Given the description of an element on the screen output the (x, y) to click on. 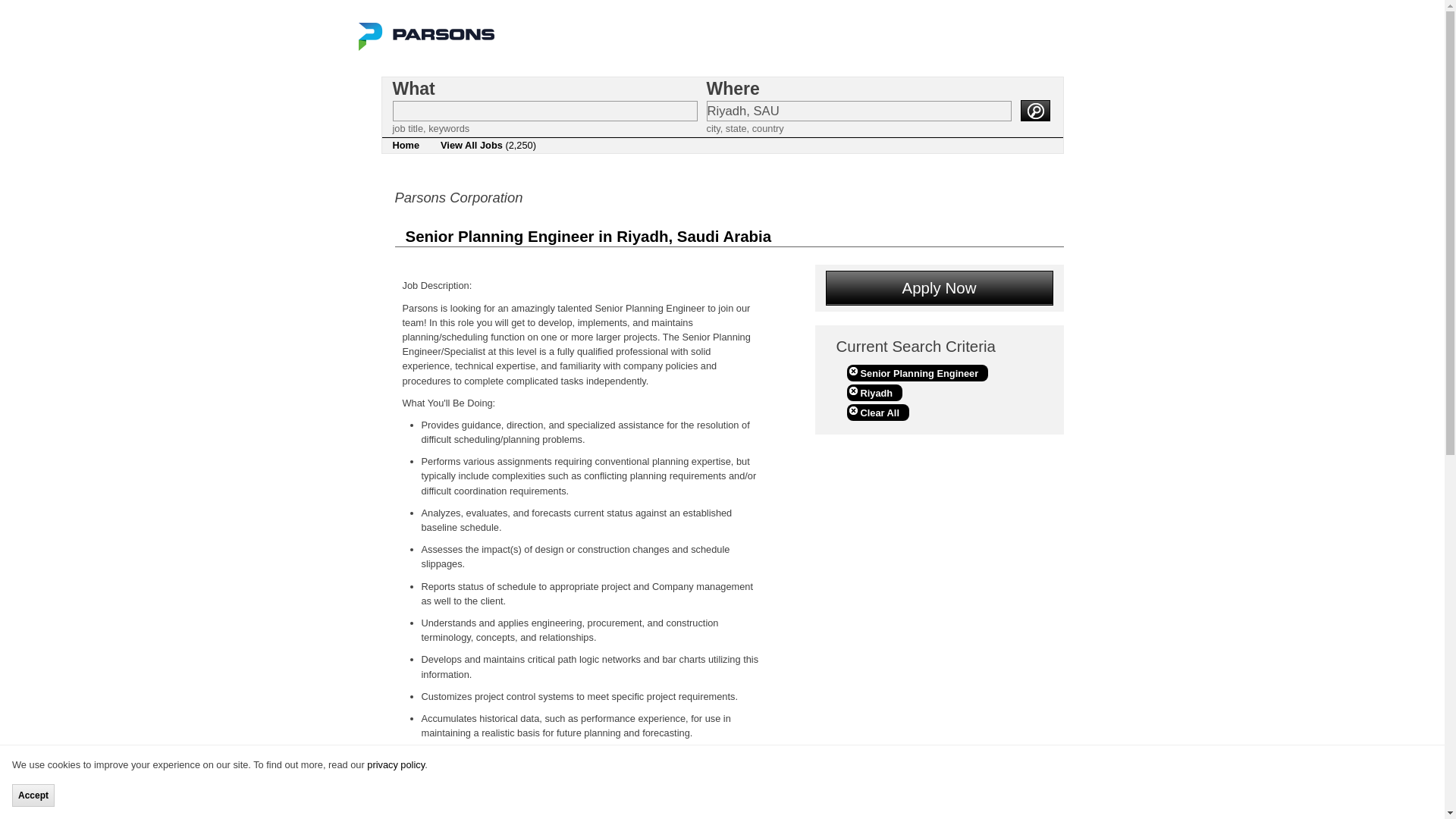
Home (405, 145)
Clear All (876, 412)
Remove Senior Planning Engineer (916, 372)
Senior Planning Engineer (916, 372)
search (1034, 110)
Accept (33, 794)
Clear All (876, 412)
Search Location (858, 110)
Remove Riyadh (873, 392)
Apply Now (938, 287)
Search Phrase (545, 110)
search (1034, 110)
privacy policy (395, 764)
Riyadh (873, 392)
